Given the description of an element on the screen output the (x, y) to click on. 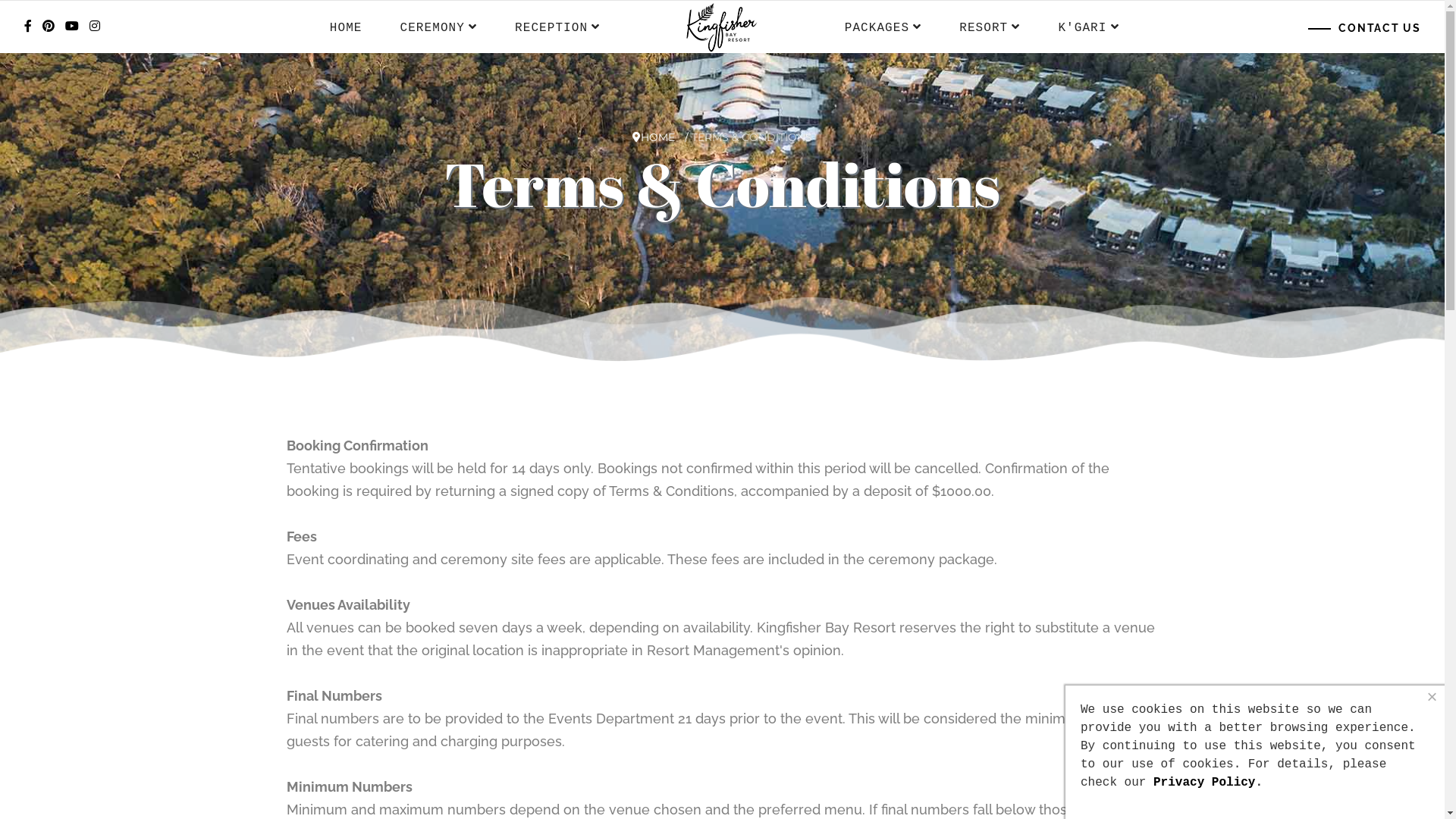
Privacy Policy Element type: text (1204, 782)
RECEPTION Element type: text (556, 26)
CEREMONY Element type: text (438, 26)
PACKAGES Element type: text (883, 26)
HOME Element type: text (657, 137)
K'GARI Element type: text (1087, 26)
HOME Element type: text (345, 27)
CONTACT US Element type: text (1364, 28)
RESORT Element type: text (989, 26)
